Given the description of an element on the screen output the (x, y) to click on. 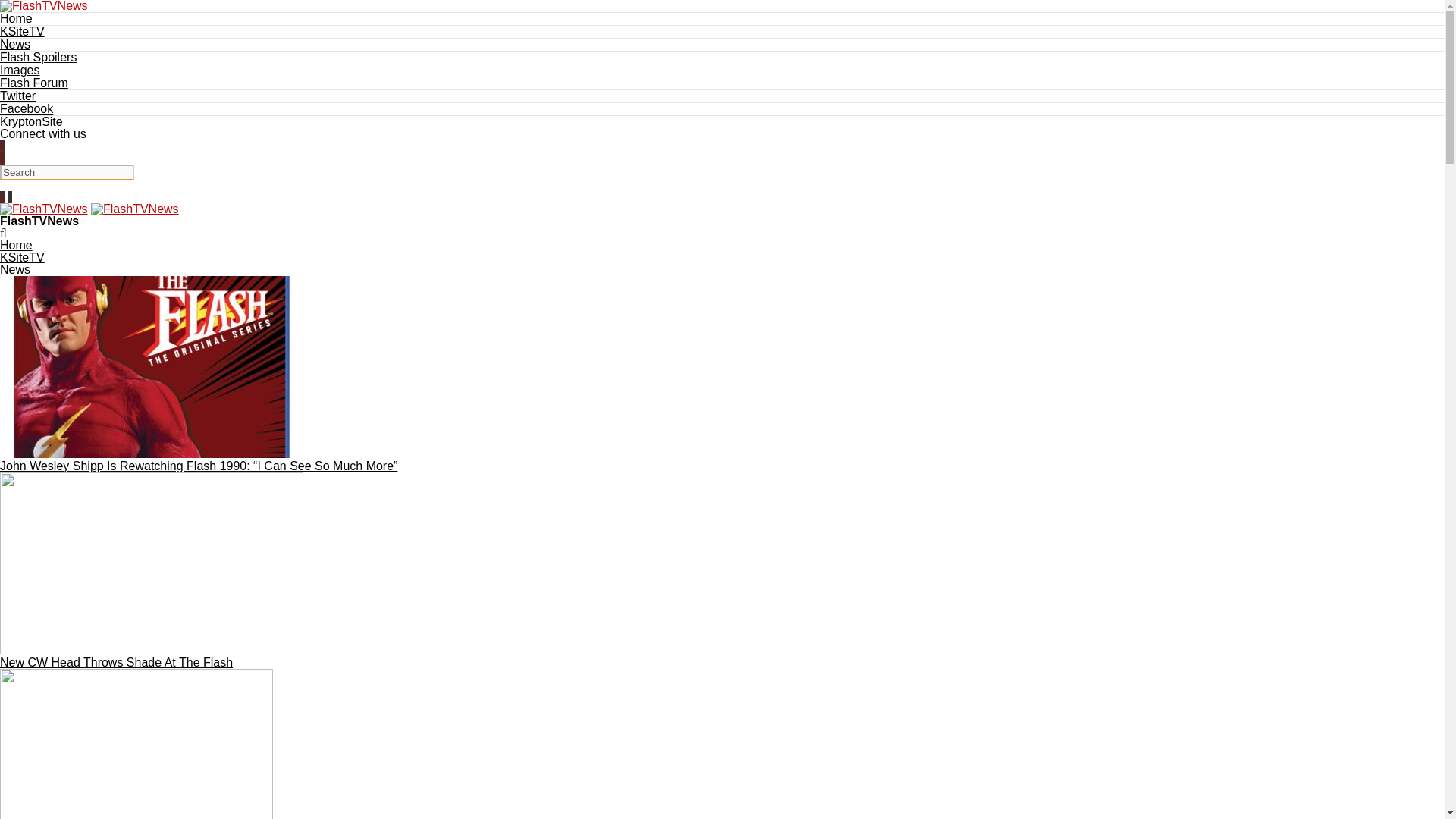
Flash Forum (34, 82)
News (15, 269)
Images (19, 69)
KSiteTV (22, 31)
KSiteTV (22, 256)
Search (66, 171)
Home (16, 245)
Flash Spoilers (38, 56)
Home (16, 18)
News (15, 43)
